Given the description of an element on the screen output the (x, y) to click on. 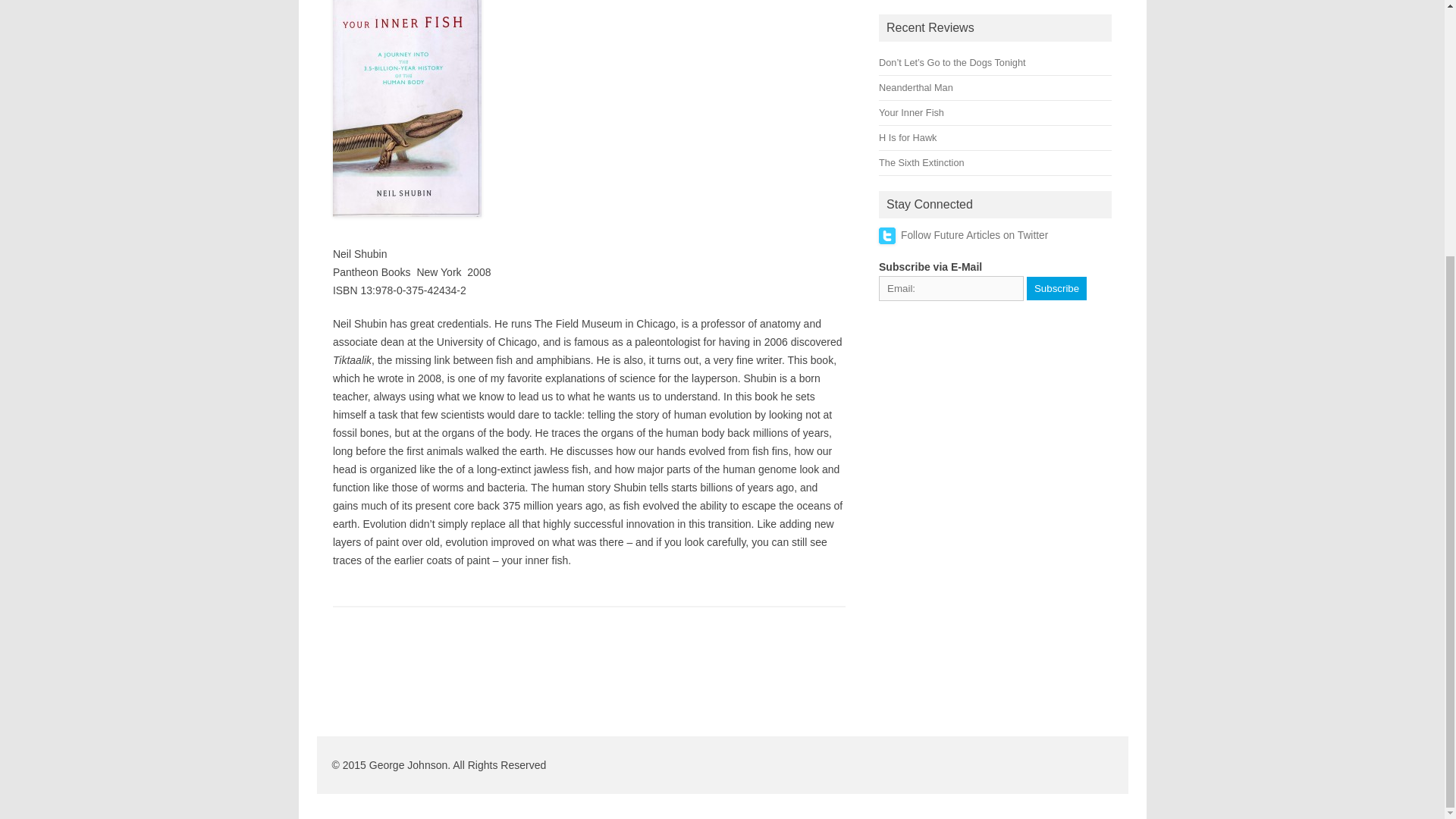
Neanderthal Man (916, 87)
The Sixth Extinction (921, 162)
Subscribe (1056, 287)
H Is for Hawk (907, 137)
Your Inner Fish (911, 112)
Subscribe (1056, 287)
